Given the description of an element on the screen output the (x, y) to click on. 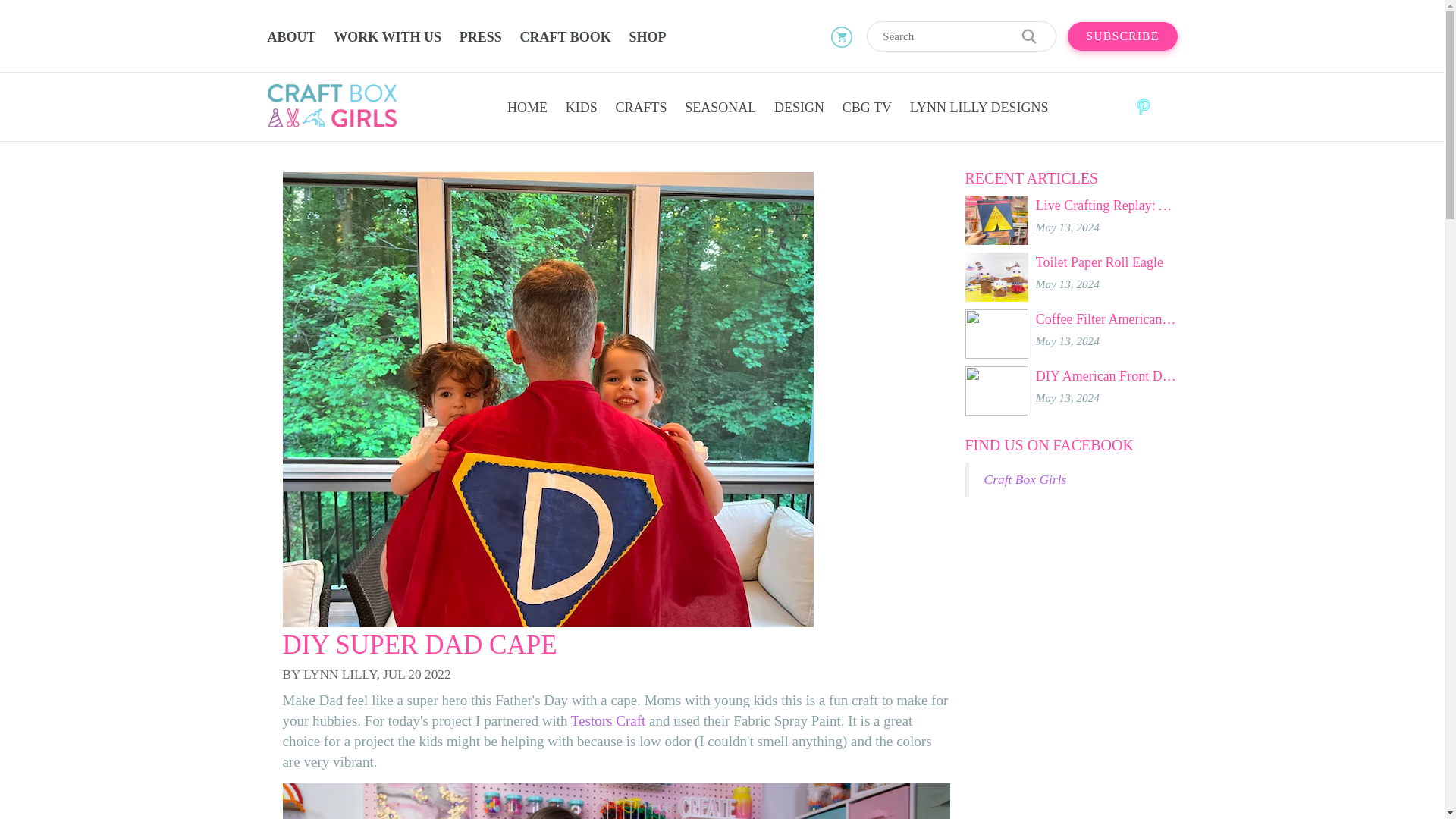
PRESS (480, 37)
CRAFT BOOK (565, 37)
Craft Box Girls on Facebook (1096, 107)
KIDS (581, 107)
CBG TV (866, 107)
Craft Box Girls on YouTube (1166, 107)
Cart (841, 36)
ABOUT (294, 37)
WORK WITH US (387, 37)
SUBSCRIBE (1121, 36)
CRAFTS (641, 107)
Craft Box Girls on Instagram (1118, 107)
HOME (526, 107)
SEASONAL (719, 107)
SHOP (646, 37)
